Given the description of an element on the screen output the (x, y) to click on. 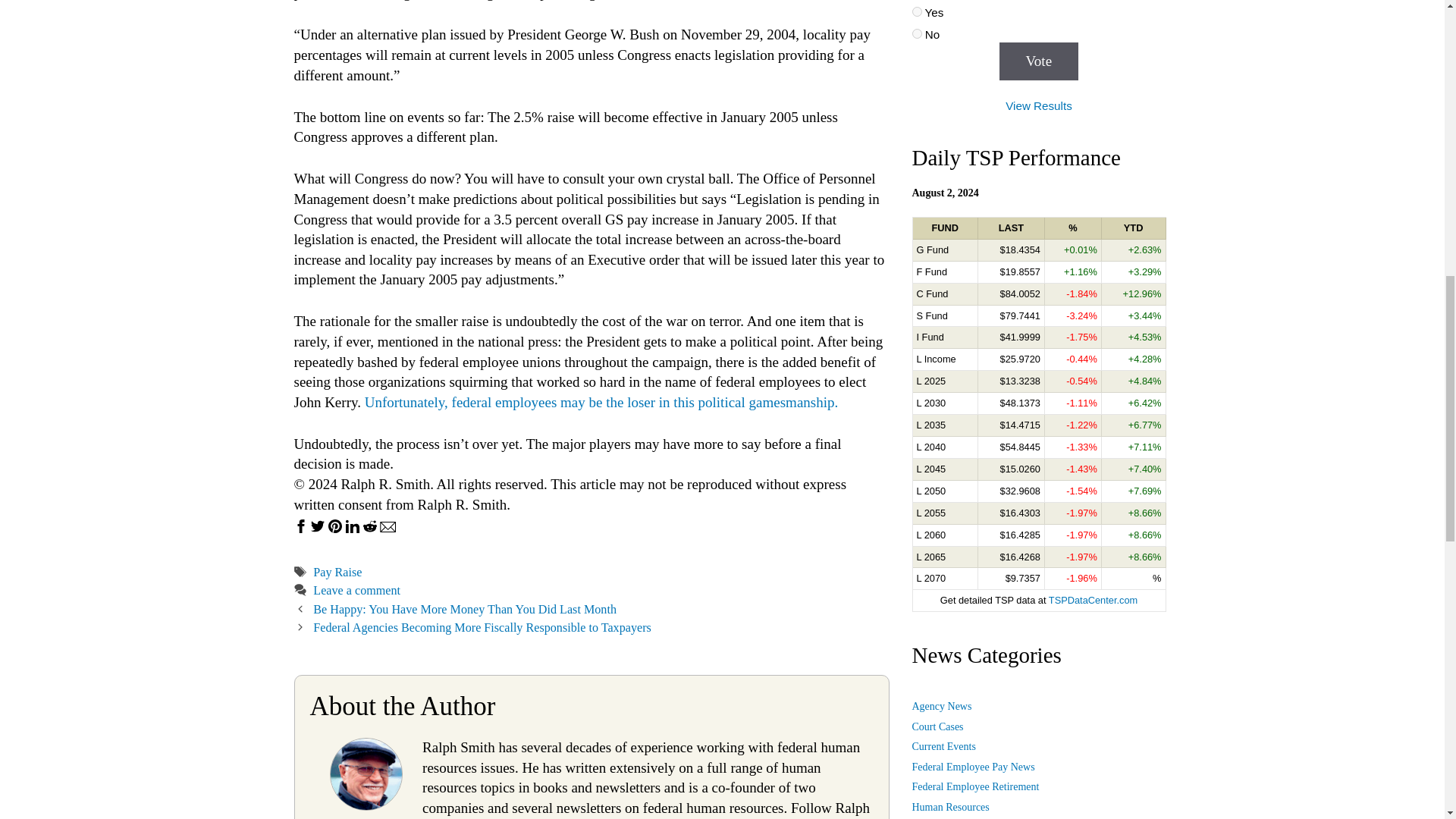
Leave a comment (356, 590)
   Vote    (1038, 61)
Pay Raise (337, 571)
2338 (916, 11)
View Results Of This Poll (1038, 105)
2339 (916, 33)
View all articles from Ralph R. Smith (366, 805)
Be Happy: You Have More Money Than You Did Last Month (464, 608)
